Given the description of an element on the screen output the (x, y) to click on. 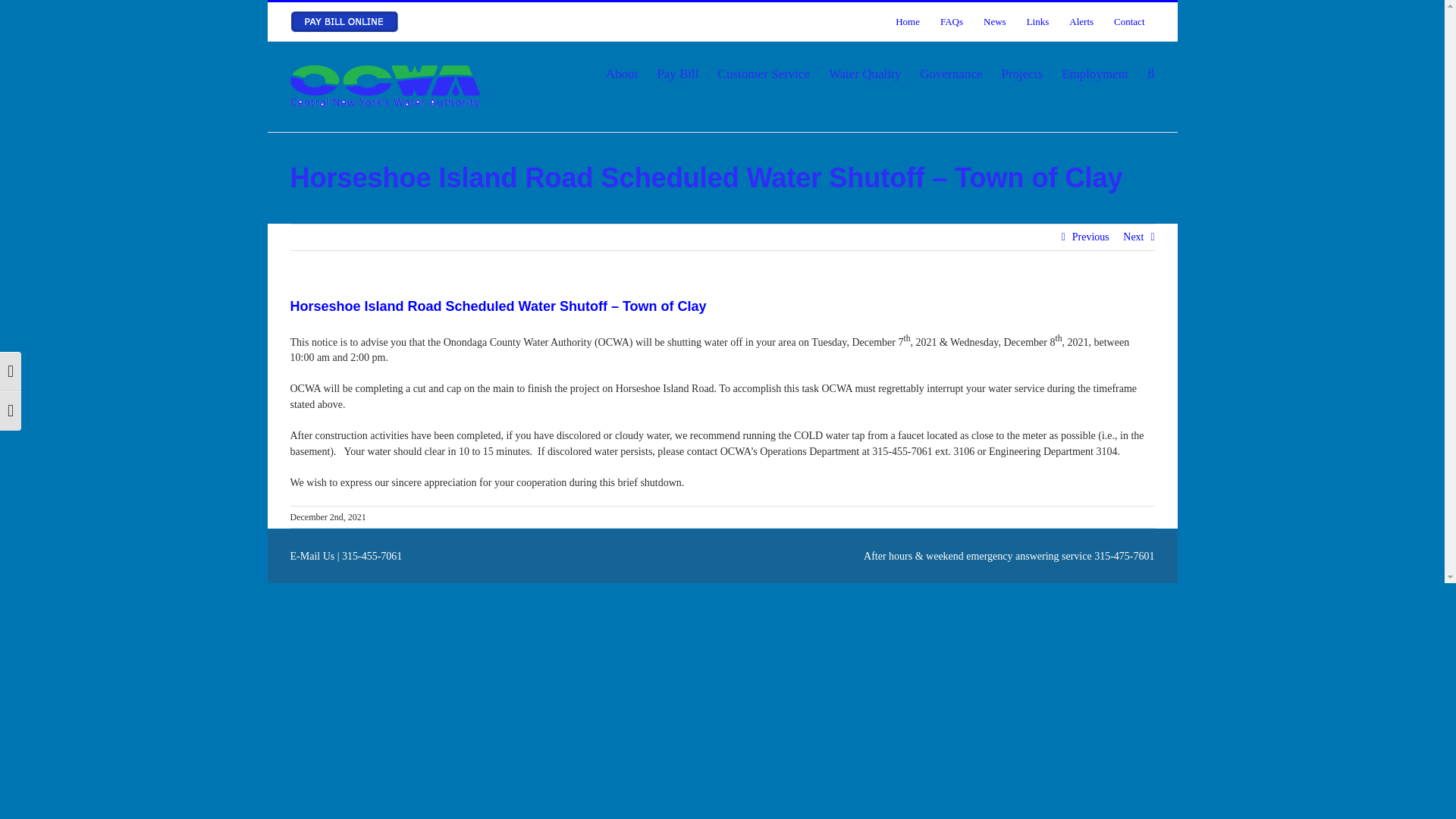
Home (907, 20)
Water Quality (864, 73)
Toggle Font size (10, 410)
About (622, 73)
Customer Service (763, 73)
Search (1150, 73)
Contact (1128, 20)
Links (1037, 20)
FAQs (951, 20)
Pay Bill Online (343, 21)
Toggle High Contrast (10, 371)
News (995, 20)
Alerts (1081, 20)
Pay Bill (677, 73)
